Given the description of an element on the screen output the (x, y) to click on. 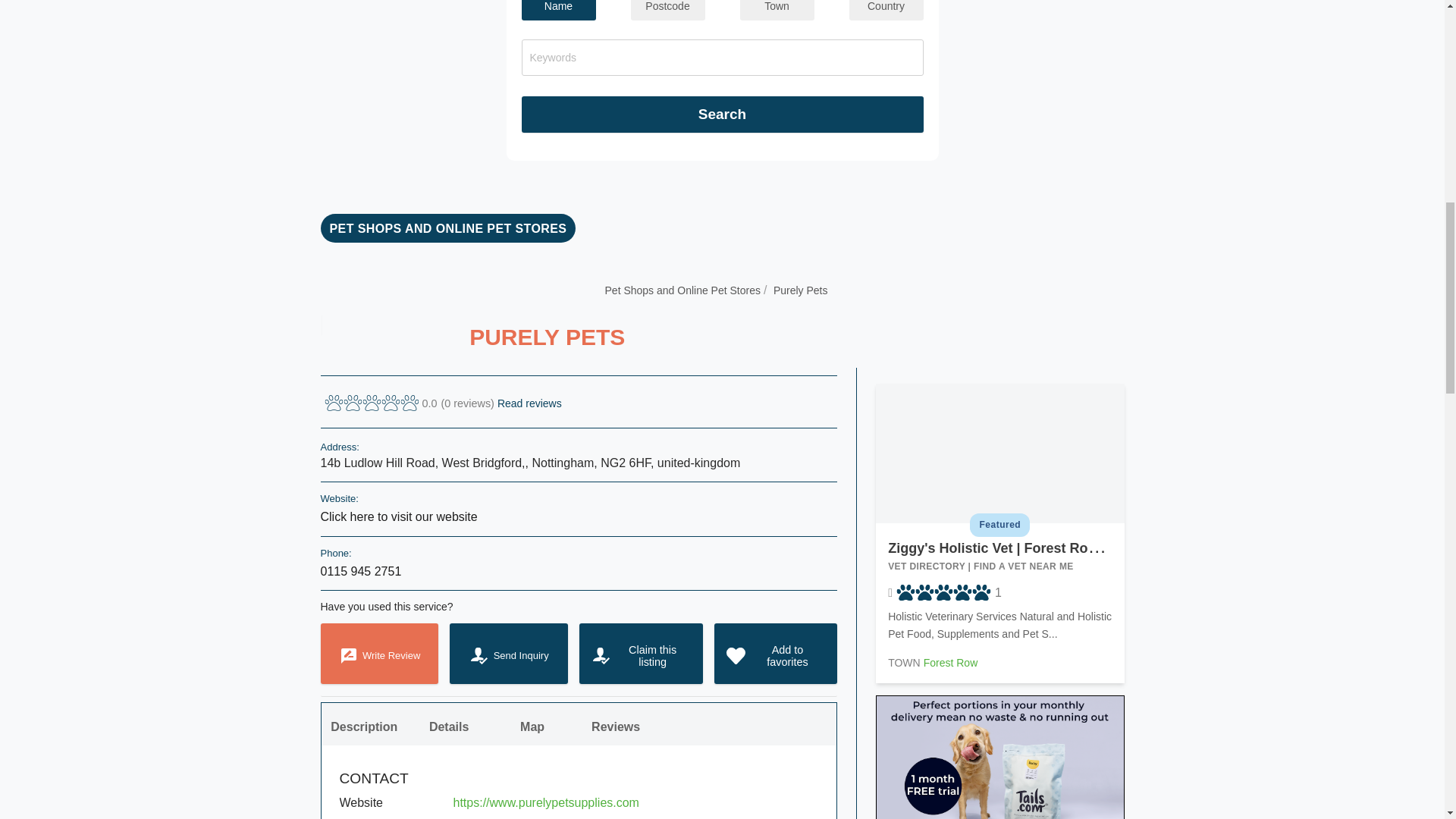
Tails ! month free offer (1000, 777)
User rating (944, 592)
User rating (443, 402)
